Given the description of an element on the screen output the (x, y) to click on. 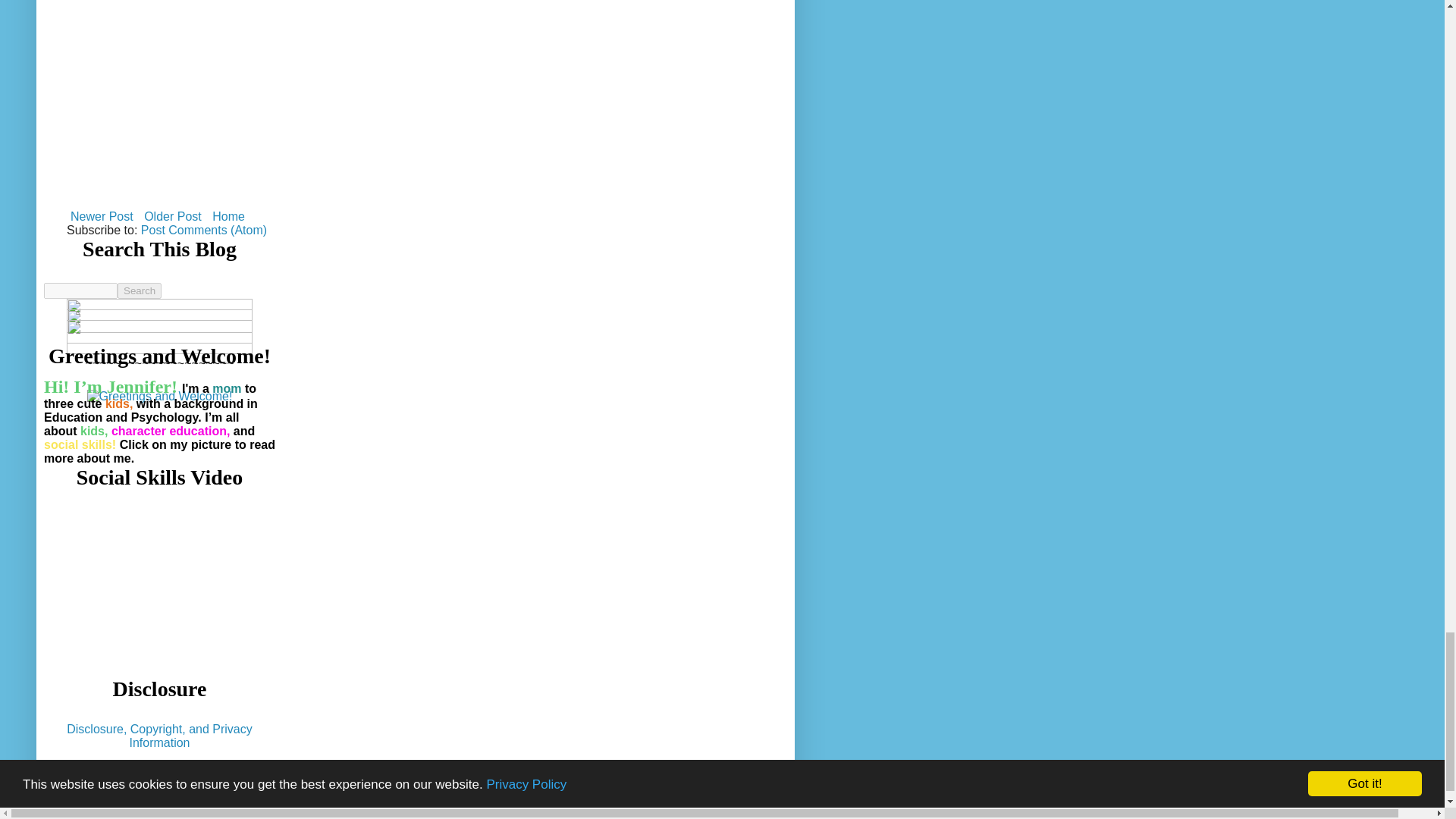
search (80, 290)
Search (139, 290)
search (139, 290)
Newer Post (101, 216)
Search (139, 290)
Older Post (172, 216)
